Given the description of an element on the screen output the (x, y) to click on. 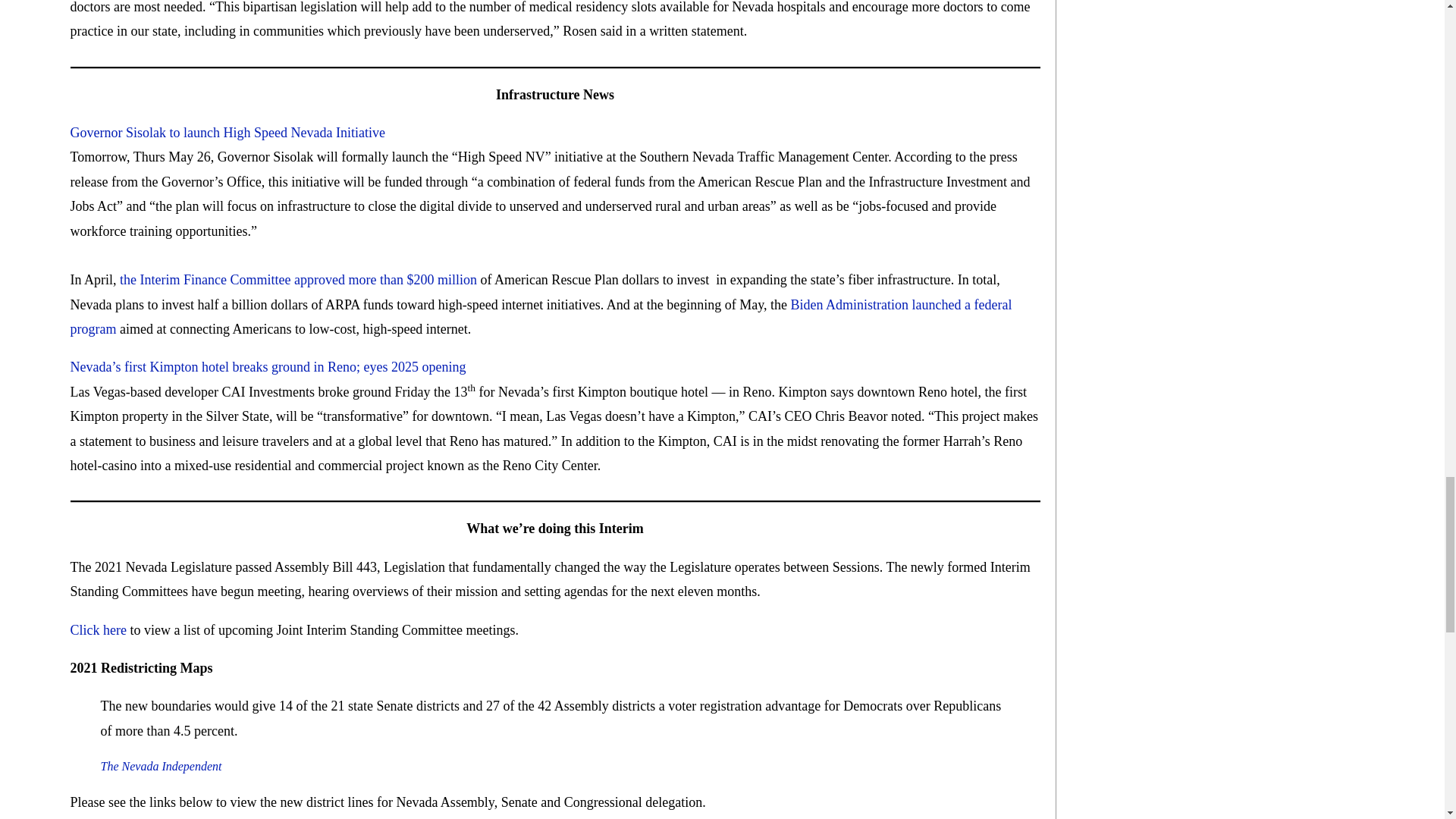
The Nevada Independent (160, 766)
Biden Administration launched a federal program (540, 316)
Governor Sisolak to launch High Speed Nevada Initiative (226, 132)
Click here (97, 630)
